Given the description of an element on the screen output the (x, y) to click on. 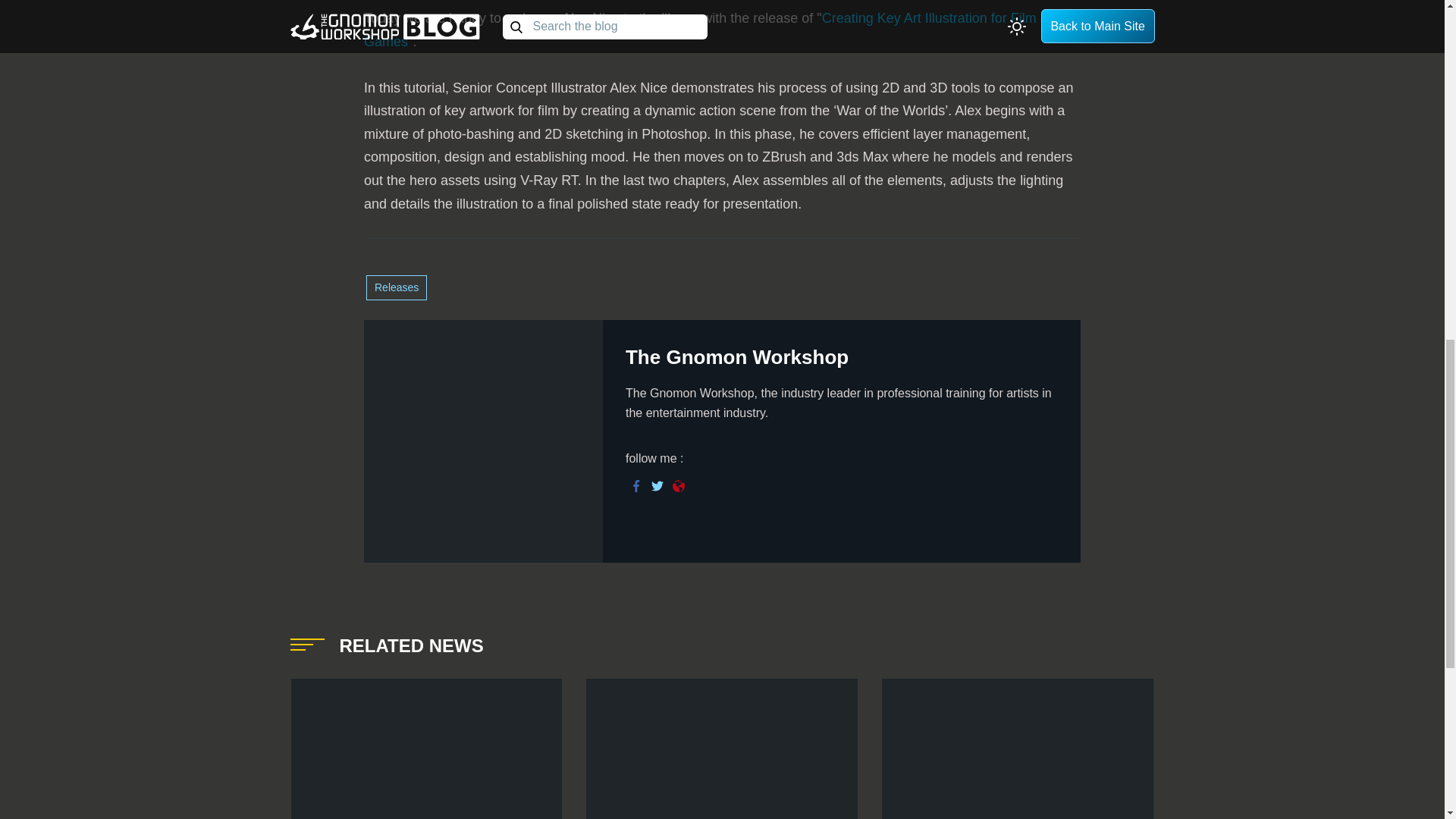
The Gnomon Workshop (737, 356)
Creating Key Art Illustration for Film and Games (713, 29)
Releases (396, 287)
